Given the description of an element on the screen output the (x, y) to click on. 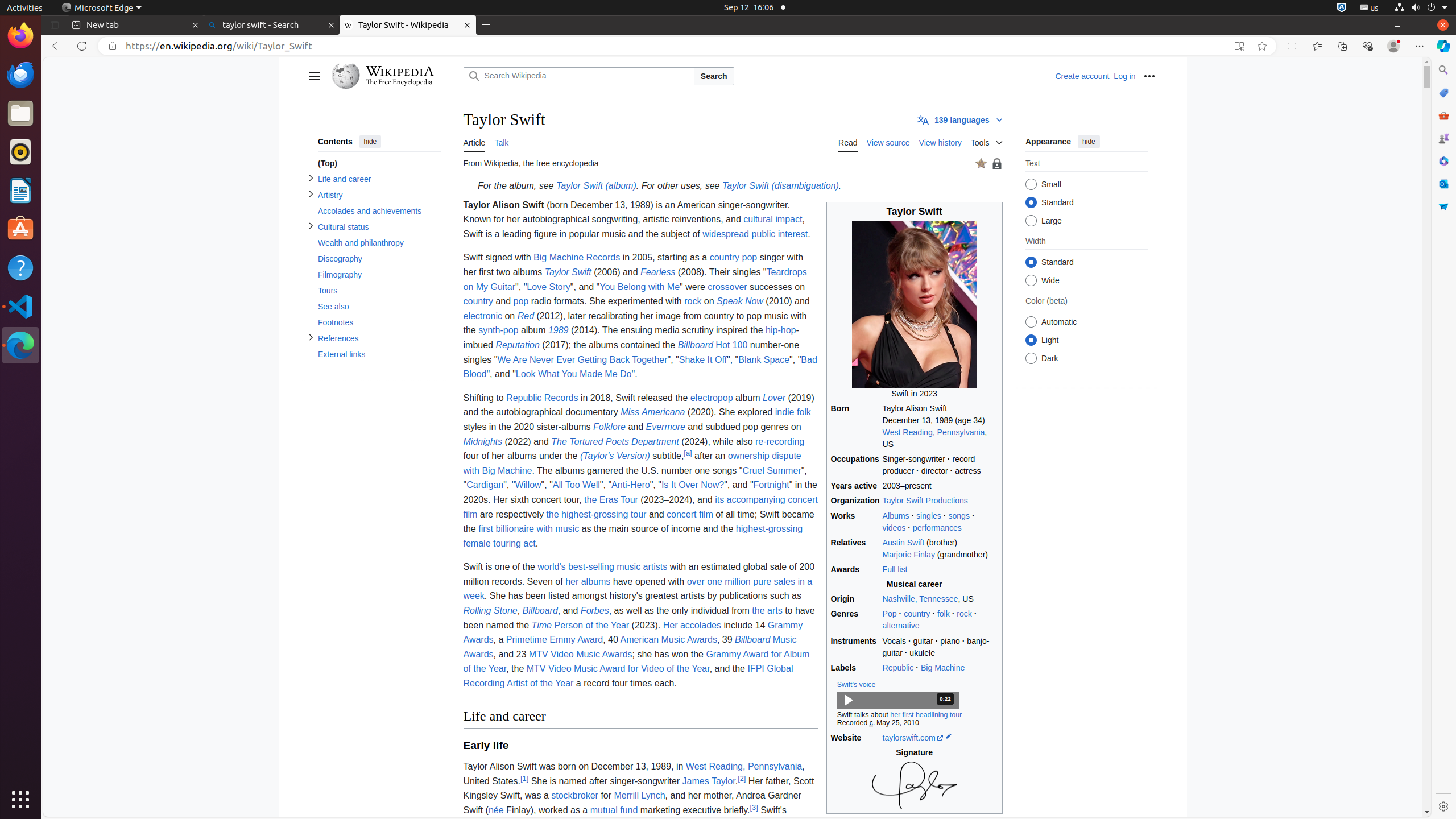
Toggle Cultural status subsection Element type: push-button (310, 225)
songs Element type: link (958, 515)
Read Element type: link (847, 141)
the arts Element type: link (766, 610)
folk Element type: link (942, 613)
